Given the description of an element on the screen output the (x, y) to click on. 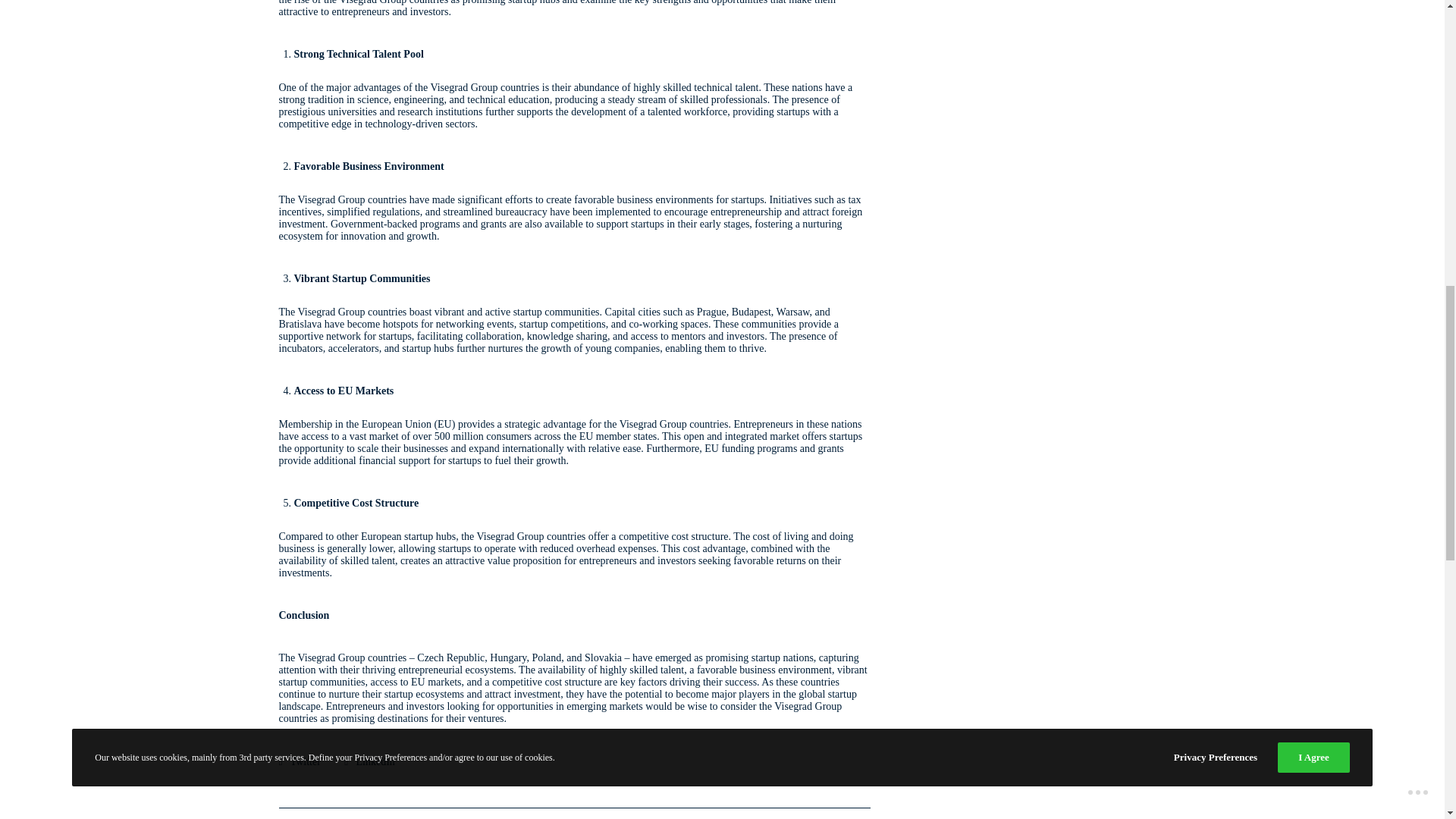
LinkedIn (368, 760)
Twitter (299, 760)
